Given the description of an element on the screen output the (x, y) to click on. 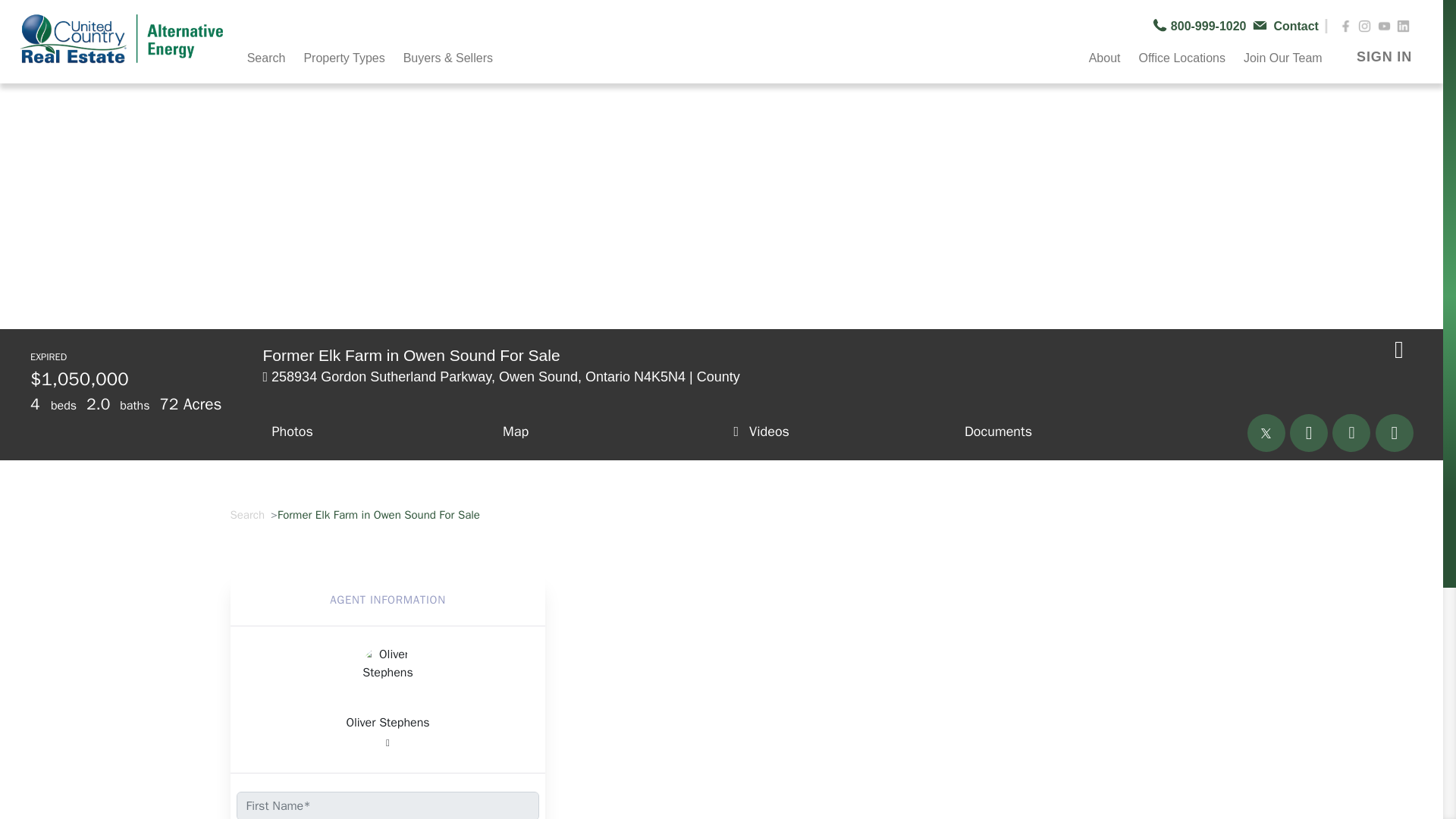
Property Types (346, 56)
800-999-1020 (1202, 25)
Search (269, 56)
